Given the description of an element on the screen output the (x, y) to click on. 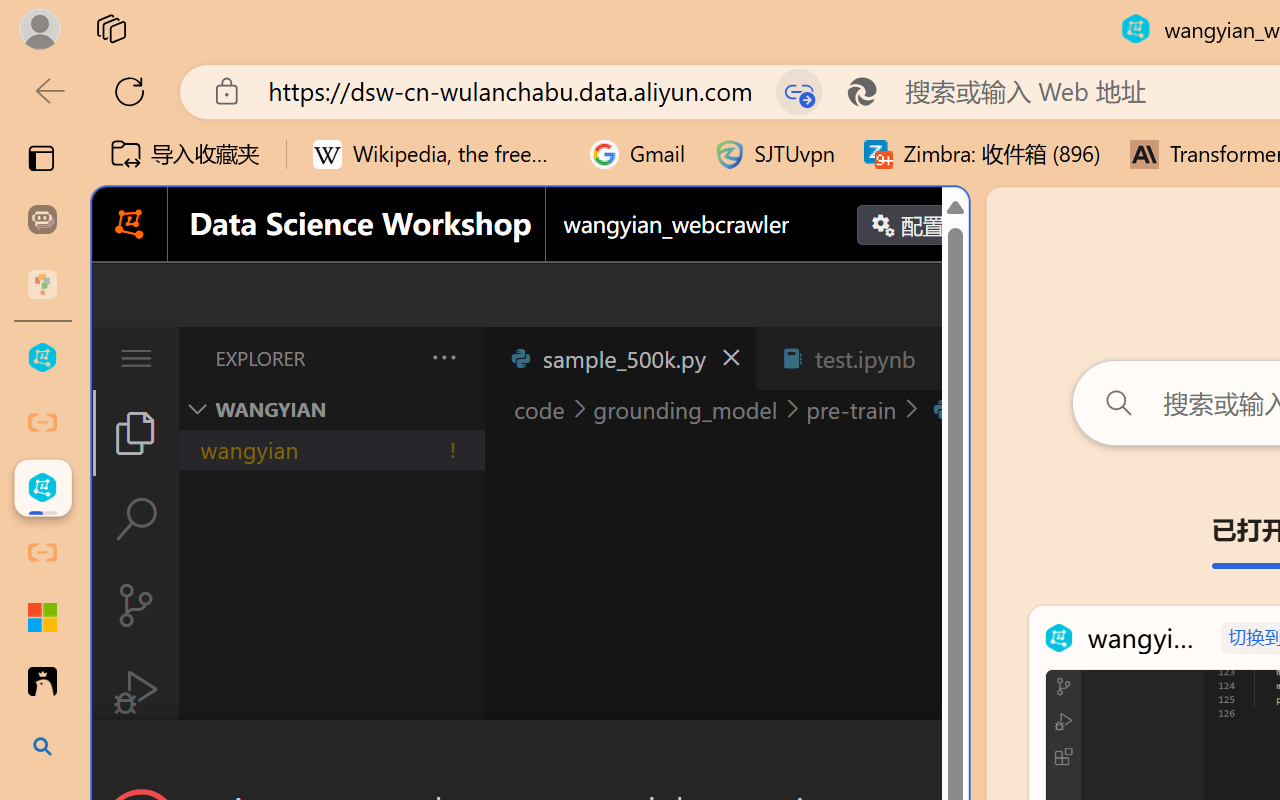
Explorer (Ctrl+Shift+E) (135, 432)
Adjust indents and spacing - Microsoft Support (42, 617)
wangyian_dsw - DSW (42, 357)
Tab actions (945, 358)
Run and Debug (Ctrl+Shift+D) (135, 692)
Explorer Section: wangyian (331, 409)
Gmail (637, 154)
